Given the description of an element on the screen output the (x, y) to click on. 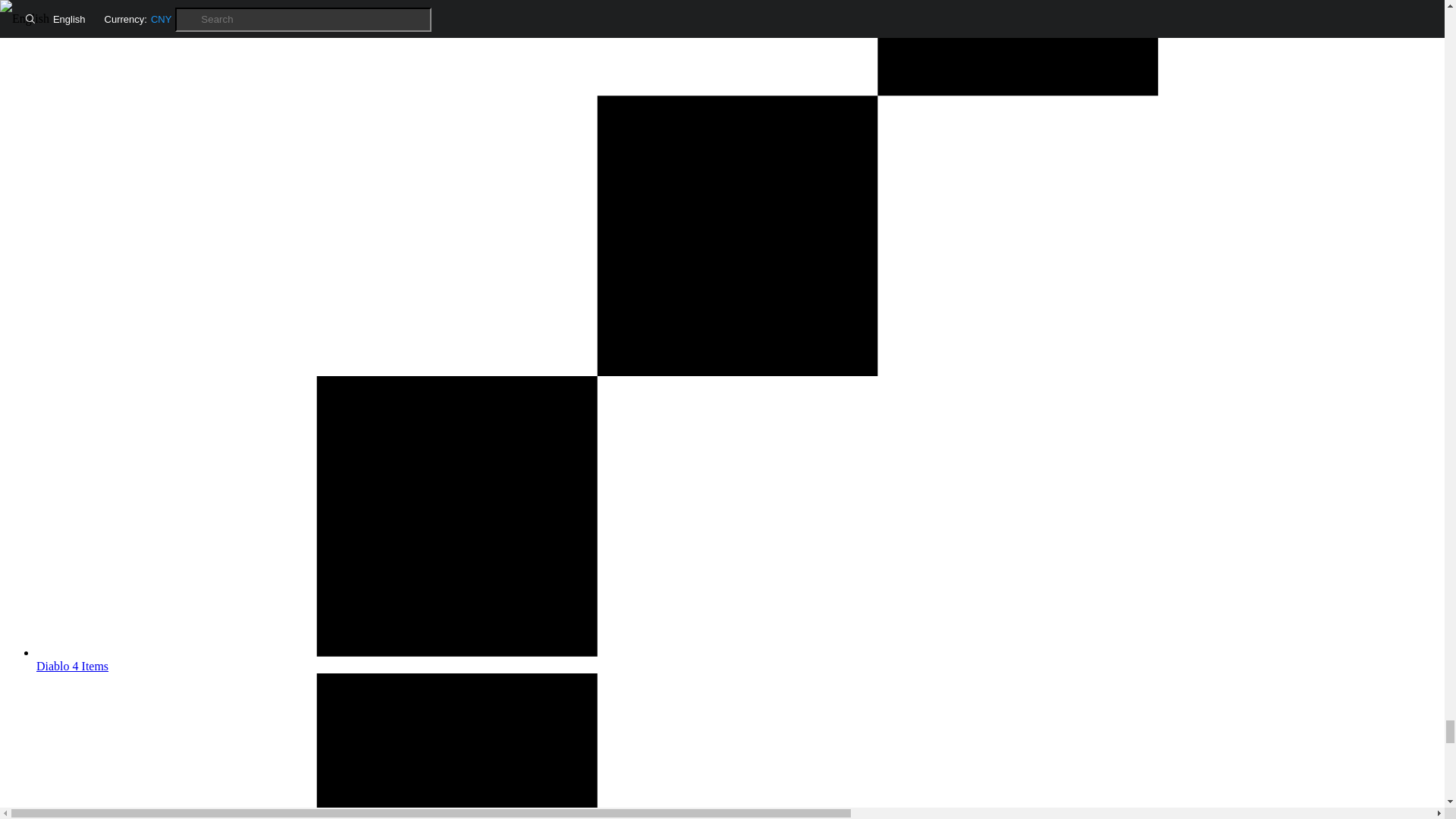
Diablo 4 Items (737, 659)
